Given the description of an element on the screen output the (x, y) to click on. 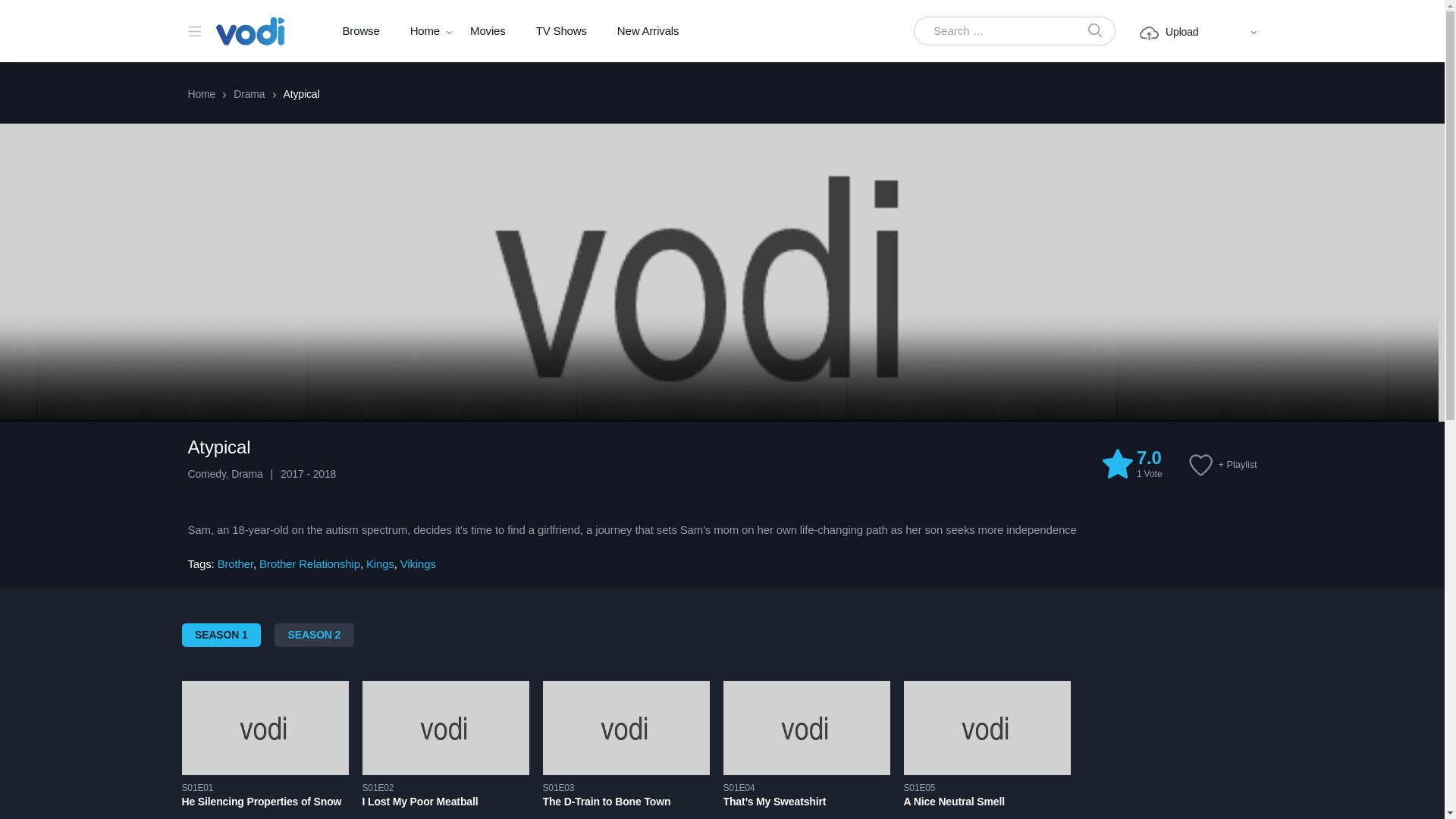
Home (424, 31)
TV Shows (561, 31)
Browse (360, 31)
play (1117, 463)
Upload (1169, 32)
Movies (487, 31)
SEARCH (1094, 31)
Home (424, 31)
Browse (360, 31)
New Arrivals (648, 31)
